Given the description of an element on the screen output the (x, y) to click on. 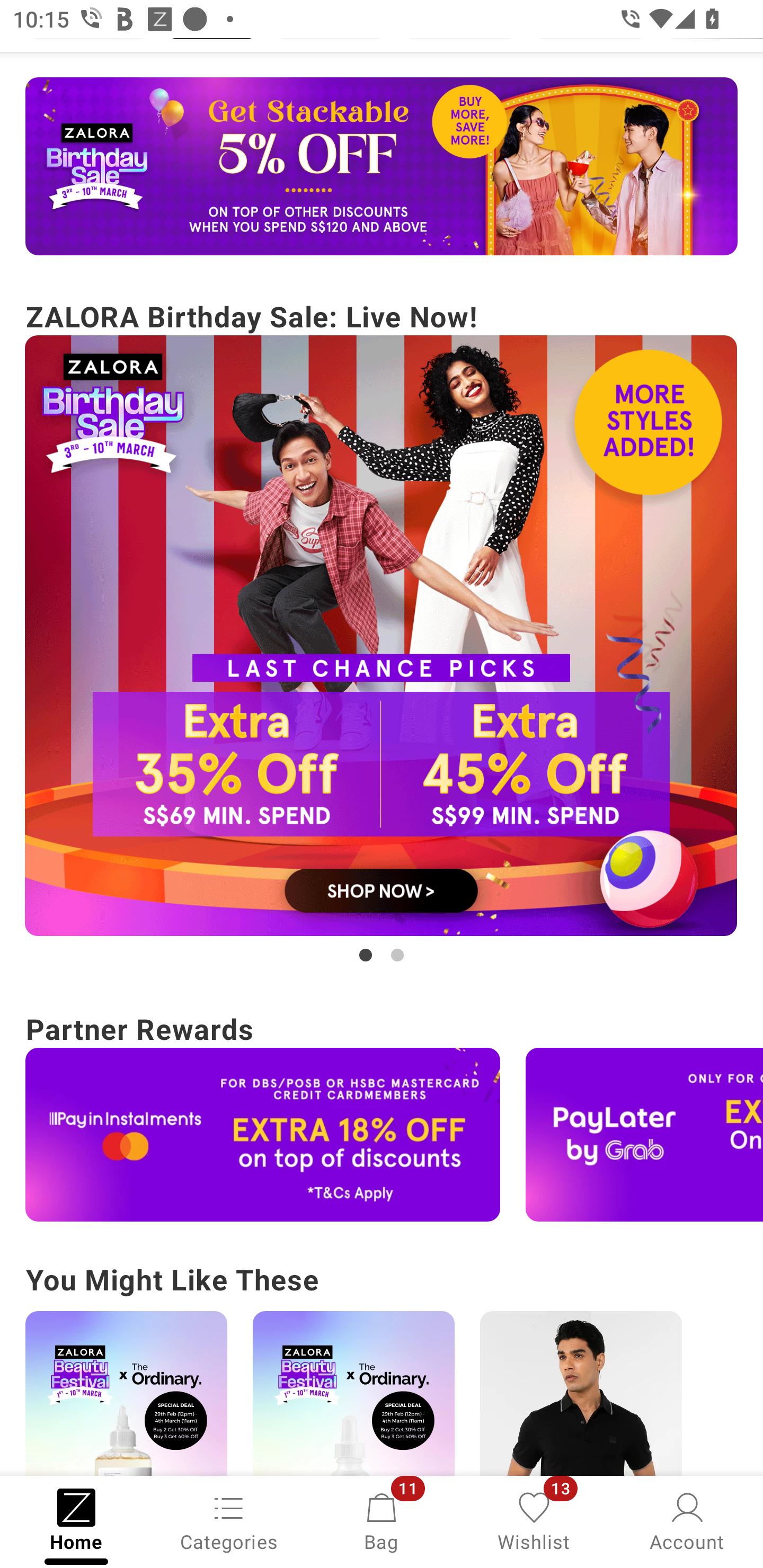
Campaign banner (381, 165)
ZALORA Birthday Sale: Live Now! Campaign banner (381, 630)
Campaign banner (381, 635)
Partner Rewards Campaign banner Campaign banner (381, 1113)
Campaign banner (262, 1134)
Campaign banner (644, 1134)
Campaign banner (126, 1392)
Campaign banner (353, 1392)
Campaign banner (580, 1392)
Categories (228, 1519)
Bag, 11 new notifications Bag (381, 1519)
Wishlist, 13 new notifications Wishlist (533, 1519)
Account (686, 1519)
